Given the description of an element on the screen output the (x, y) to click on. 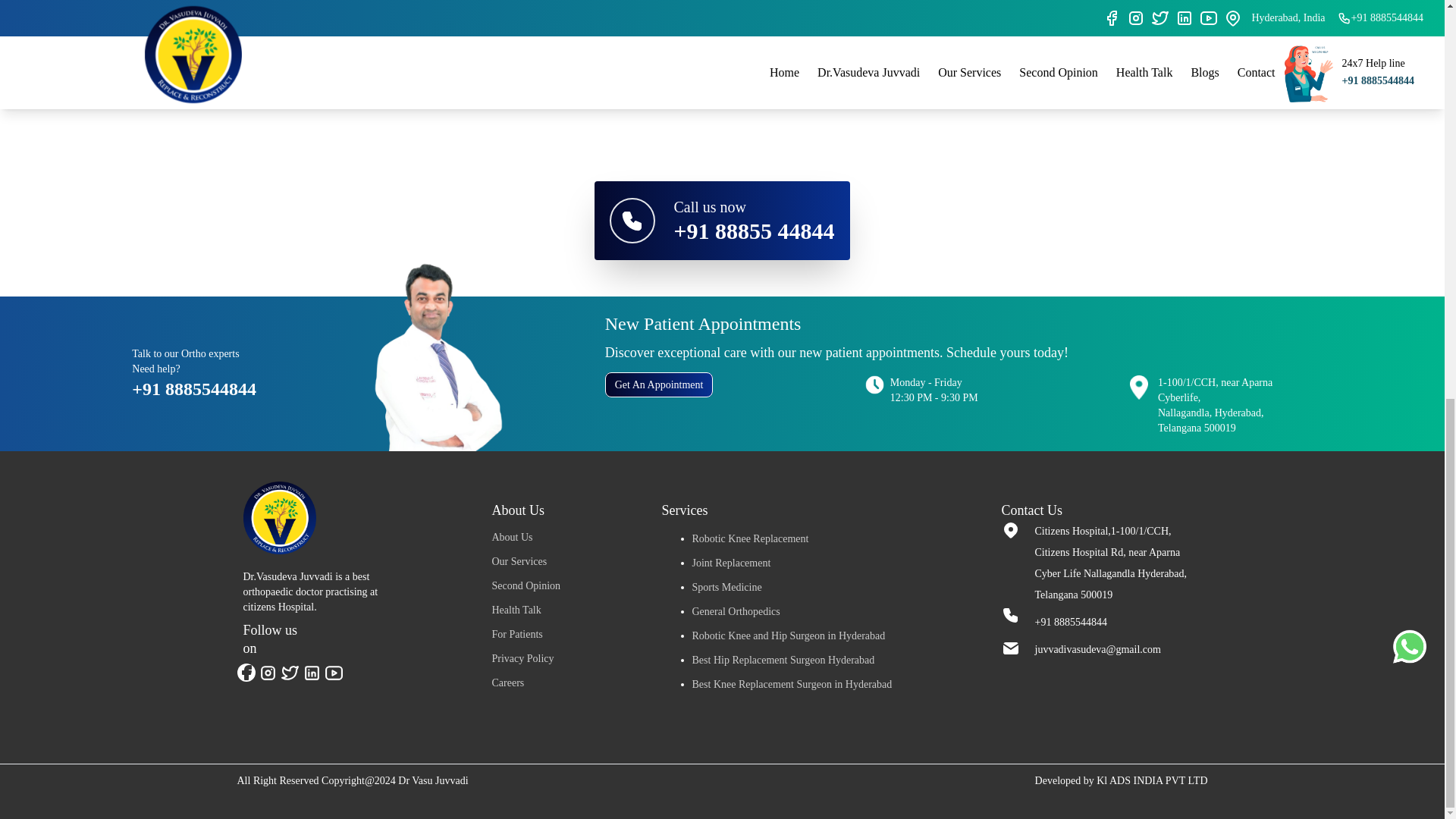
Robotic Knee Replacement (749, 538)
Joint Replacement (730, 562)
Our Services (519, 561)
Get An Appointment (659, 384)
Health Talk (516, 609)
For Patients (516, 633)
Careers (508, 682)
About Us (512, 536)
Privacy Policy (522, 658)
Second Opinion (526, 585)
